Given the description of an element on the screen output the (x, y) to click on. 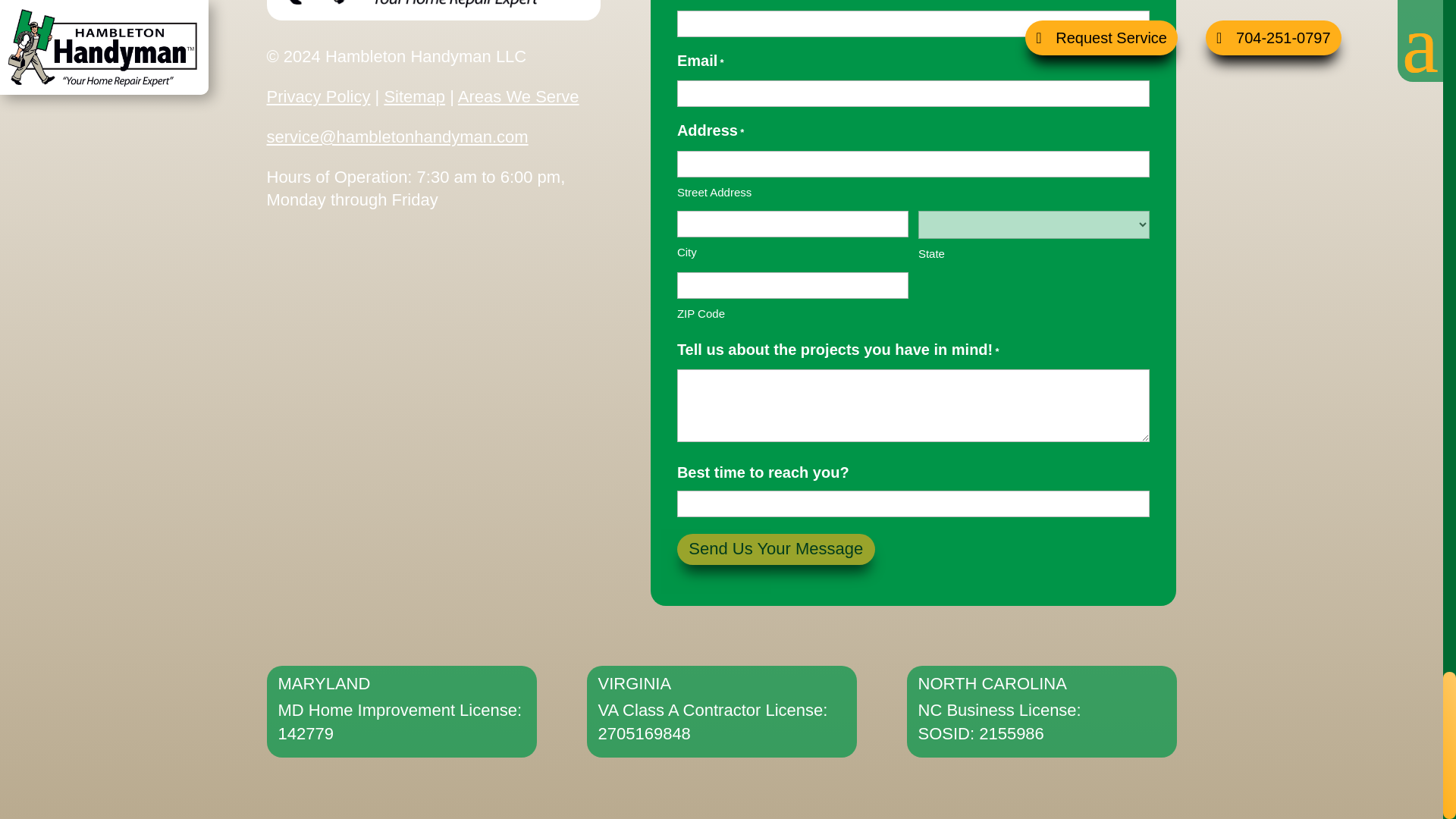
Send Us Your Message (776, 549)
Privacy Policy (318, 96)
Sitemap (414, 96)
FullLockUpTM (432, 10)
Send Us Your Message (776, 549)
Areas We Serve (518, 96)
